Given the description of an element on the screen output the (x, y) to click on. 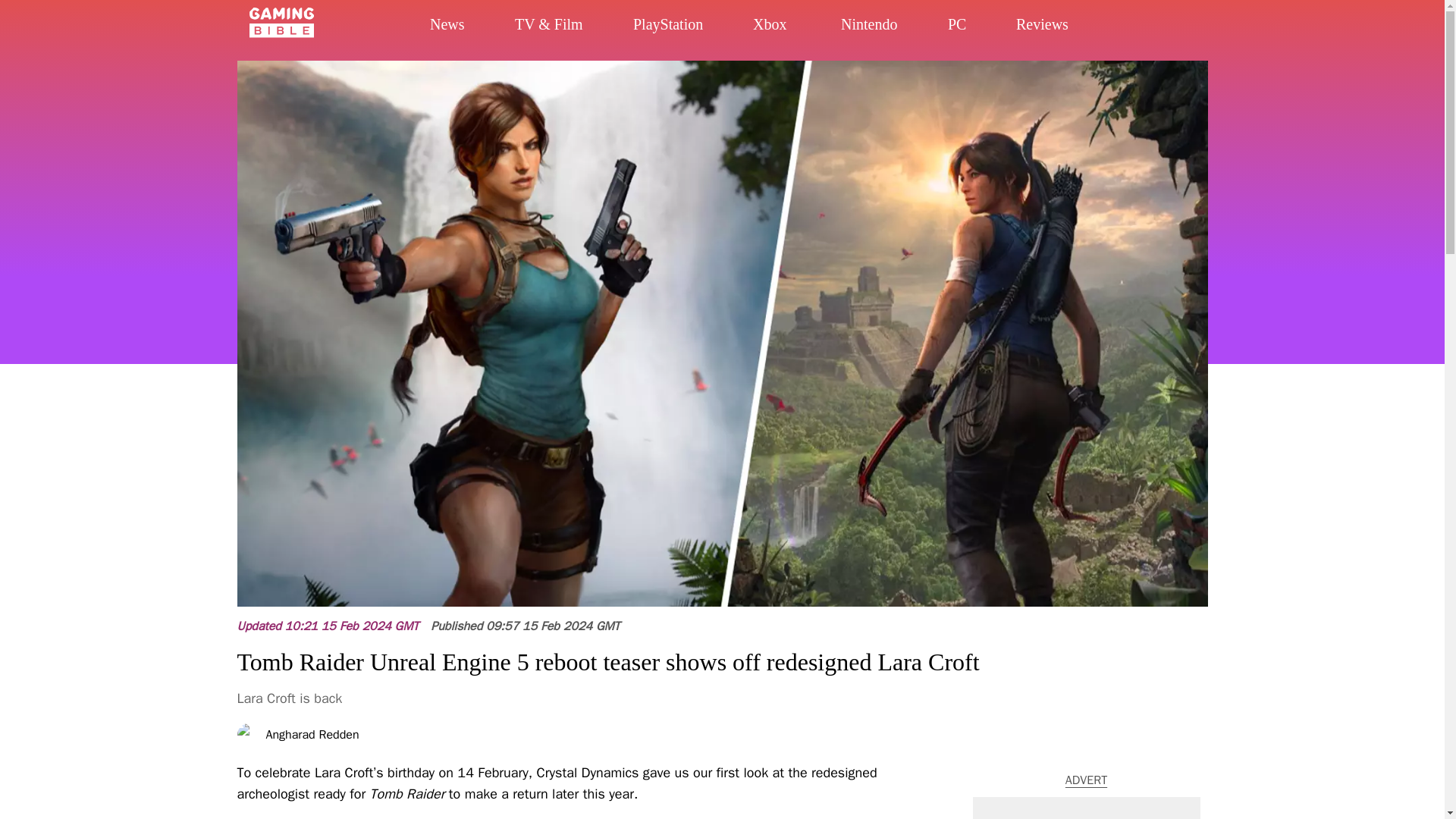
Angharad Redden (311, 734)
Xbox (783, 27)
News (442, 24)
PC (972, 28)
PlayStation (675, 26)
Nintendo (890, 27)
Reviews (1069, 29)
